Given the description of an element on the screen output the (x, y) to click on. 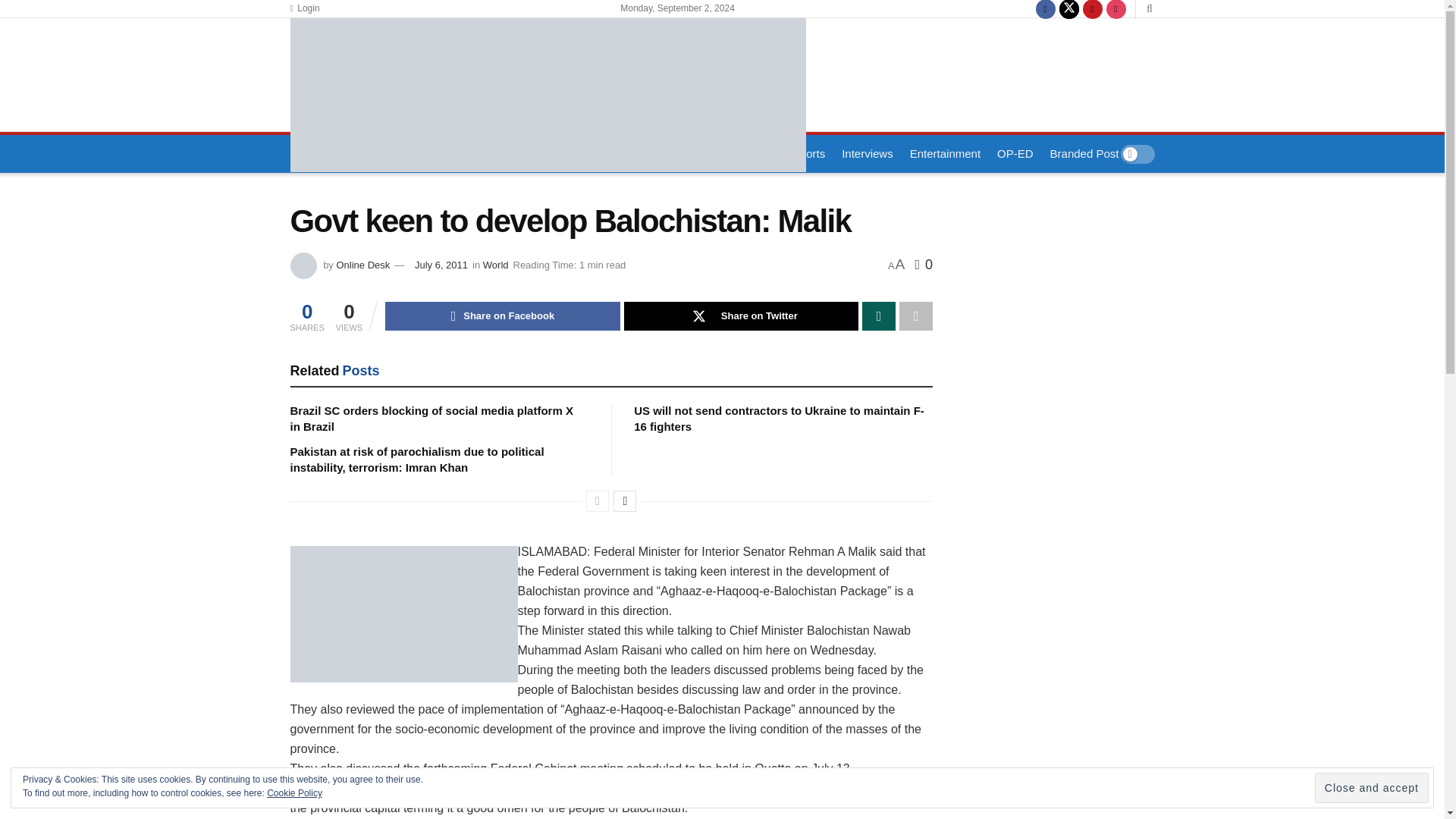
Interviews (867, 153)
Sports (802, 153)
OP-ED (1015, 153)
Previous (597, 500)
Ladakh (612, 153)
Business (676, 153)
Login (303, 8)
Entertainment (944, 153)
FeaturedNew (386, 153)
Jammu (517, 153)
